Given the description of an element on the screen output the (x, y) to click on. 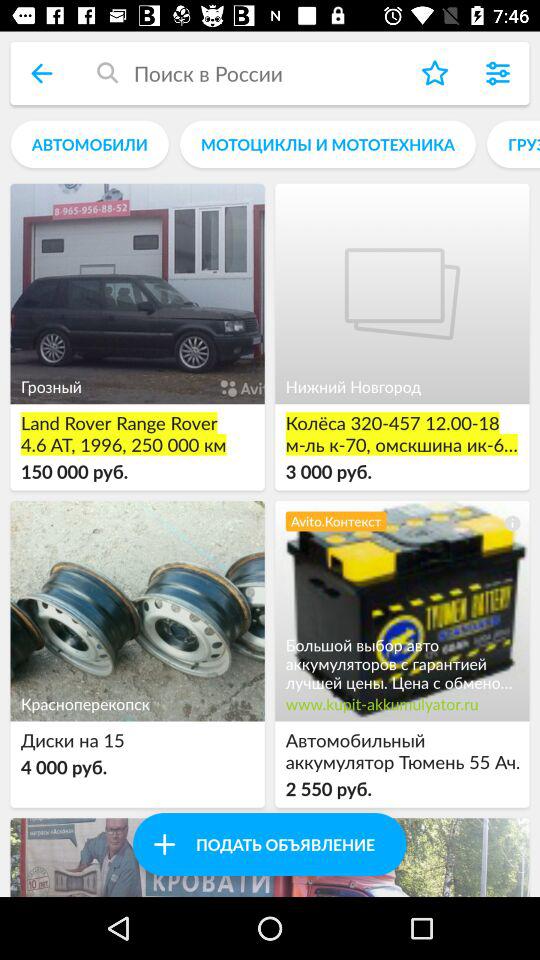
click on  button (164, 844)
click on the first right image from bottom (401, 611)
